Given the description of an element on the screen output the (x, y) to click on. 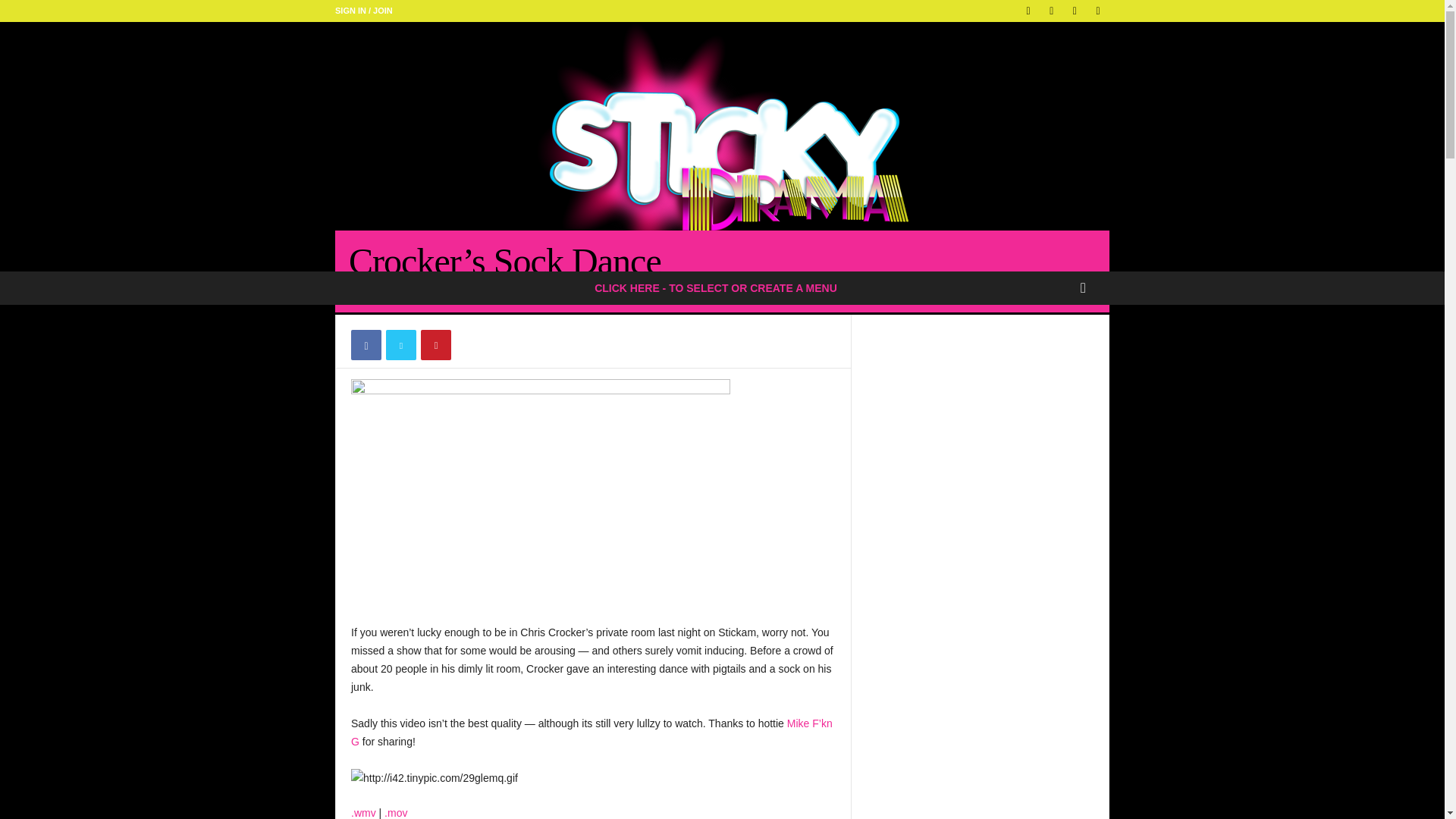
31 (525, 293)
CLICK HERE - TO SELECT OR CREATE A MENU (715, 287)
lolatyou (378, 293)
Mike's profile (591, 732)
